Given the description of an element on the screen output the (x, y) to click on. 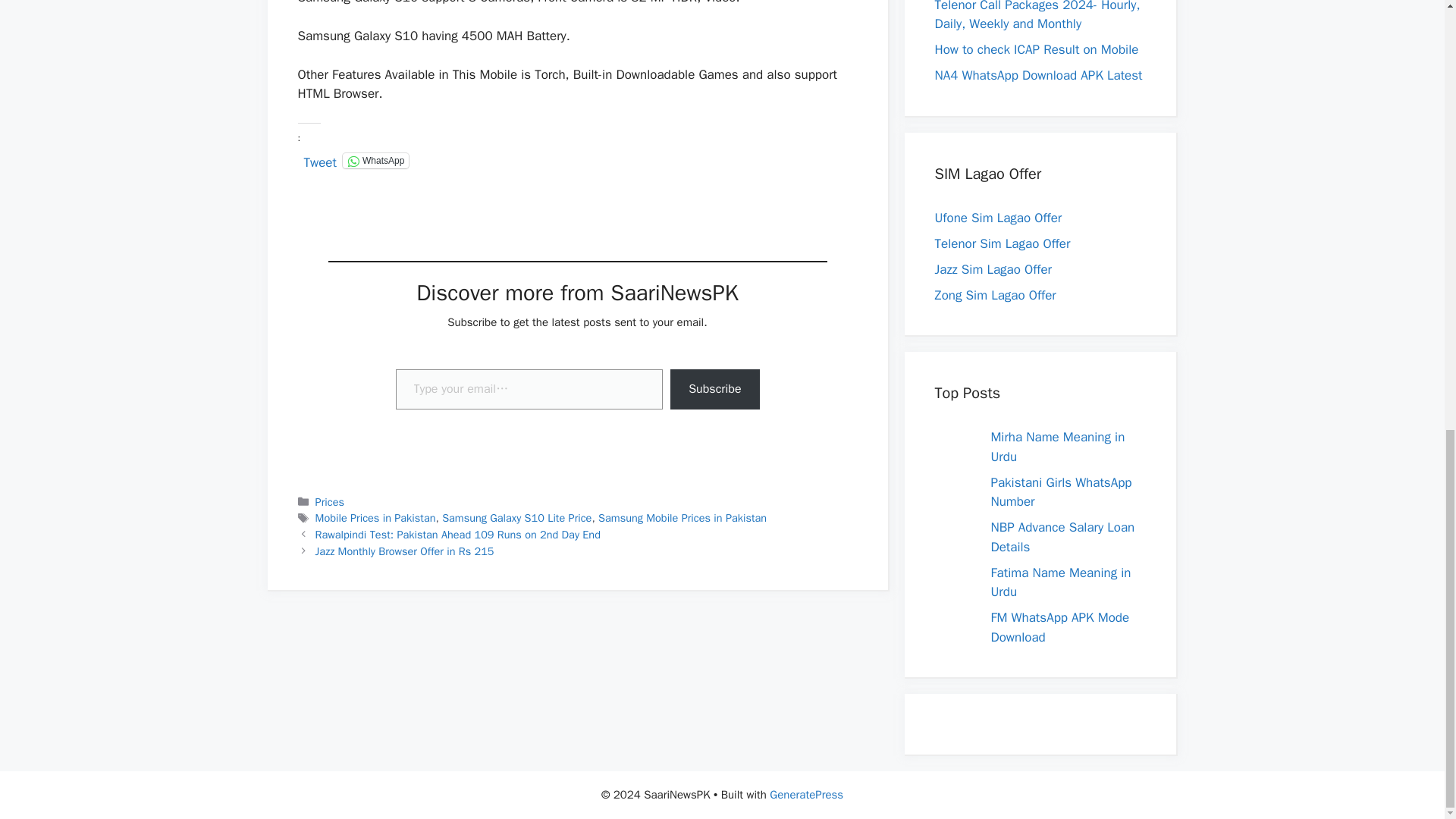
Tweet (319, 160)
WhatsApp (375, 160)
Rawalpindi Test: Pakistan Ahead 109 Runs on 2nd Day End (457, 534)
Jazz Monthly Browser Offer in Rs 215 (405, 550)
Prices (329, 501)
Samsung Galaxy S10 Lite Price (516, 517)
Samsung Mobile Prices in Pakistan (682, 517)
Mobile Prices in Pakistan (375, 517)
Telenor Sim Lagao Offer (1002, 243)
NA4 WhatsApp Download APK Latest (1037, 75)
Jazz Sim Lagao Offer (992, 269)
How to check ICAP Result on Mobile (1036, 49)
Click to share on WhatsApp (375, 160)
Subscribe (713, 389)
